Given the description of an element on the screen output the (x, y) to click on. 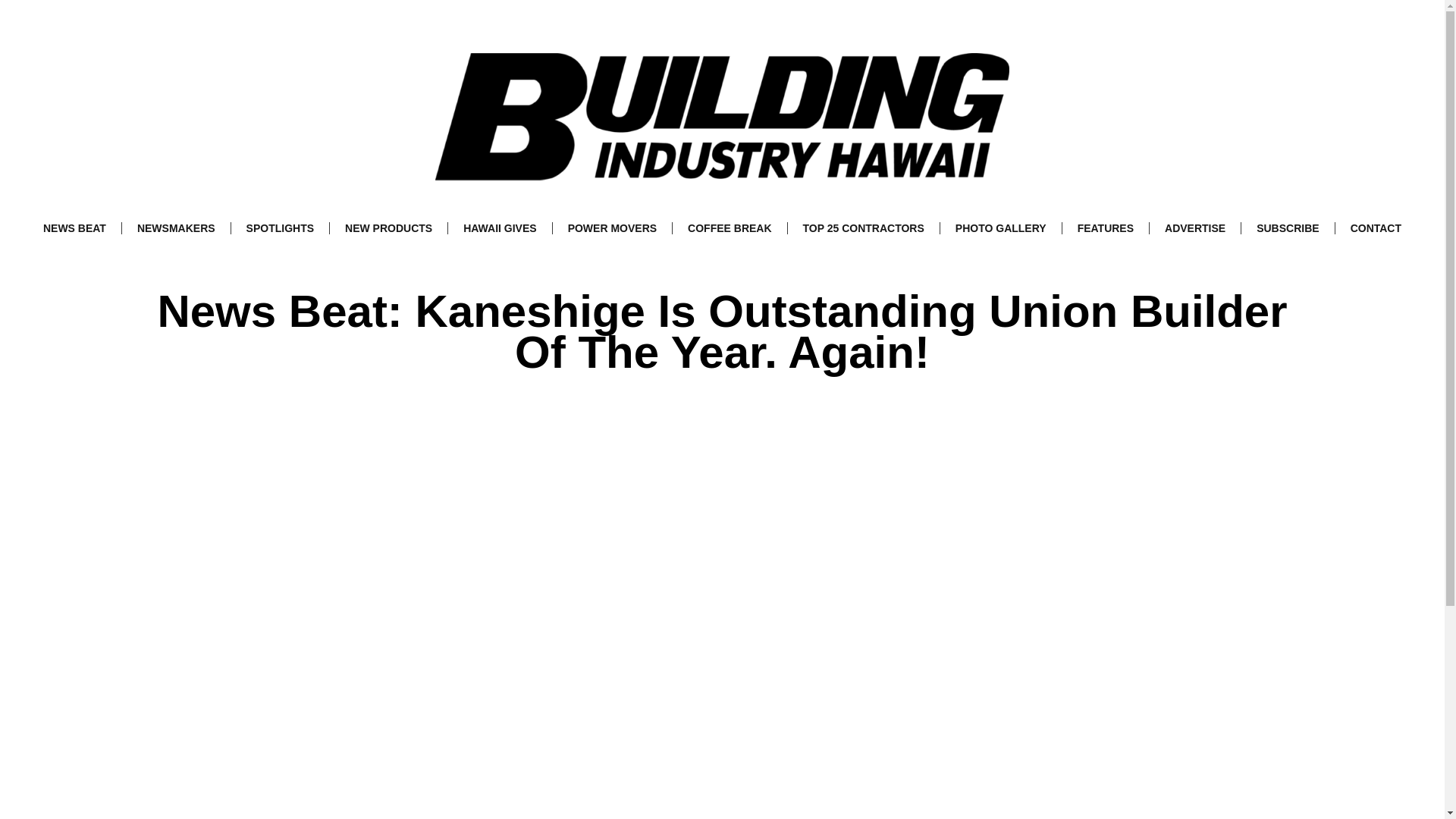
POWER MOVERS (612, 227)
FEATURES (1105, 227)
COFFEE BREAK (729, 227)
SPOTLIGHTS (280, 227)
NEWS BEAT (73, 227)
CONTACT (1375, 227)
SUBSCRIBE (1287, 227)
PHOTO GALLERY (1000, 227)
NEWSMAKERS (176, 227)
ADVERTISE (1195, 227)
